Given the description of an element on the screen output the (x, y) to click on. 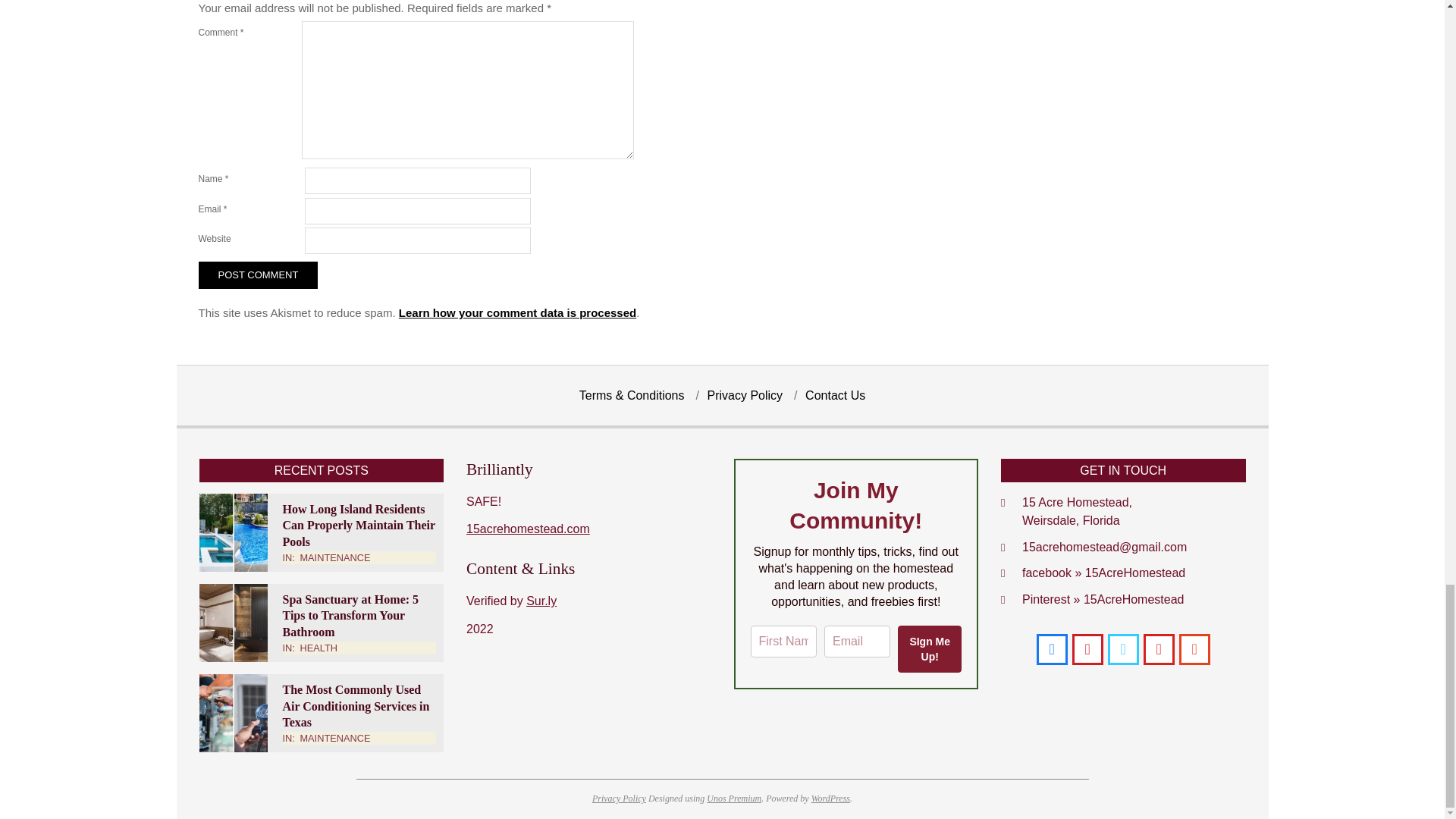
Post Comment (258, 275)
Post Comment (258, 275)
Unos Premium WordPress Theme (733, 798)
Learn how your comment data is processed (517, 312)
